Given the description of an element on the screen output the (x, y) to click on. 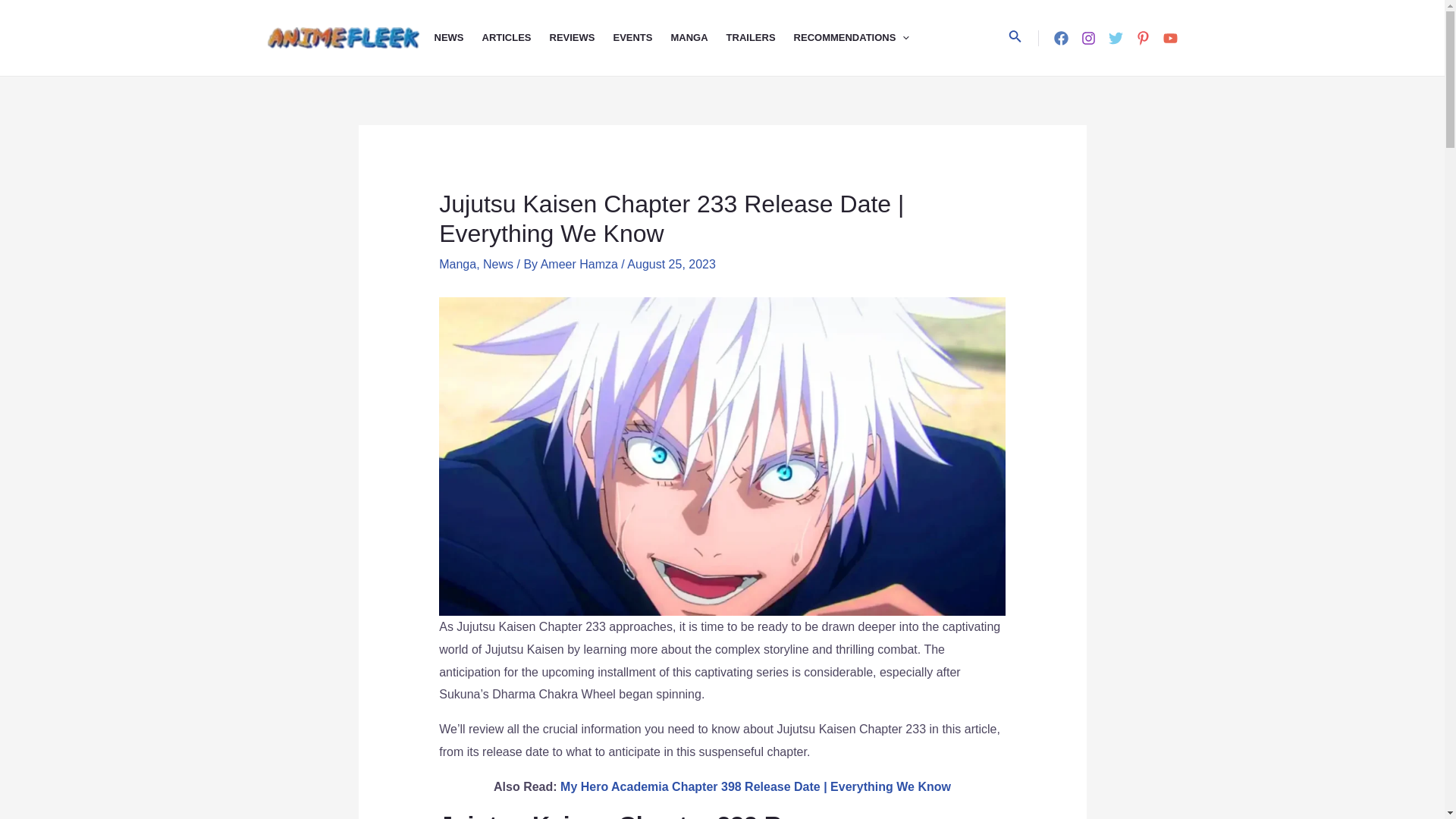
News (498, 264)
Ameer Hamza (580, 264)
TRAILERS (759, 38)
ARTICLES (515, 38)
Manga (457, 264)
View all posts by Ameer Hamza (580, 264)
RECOMMENDATIONS (860, 38)
